Given the description of an element on the screen output the (x, y) to click on. 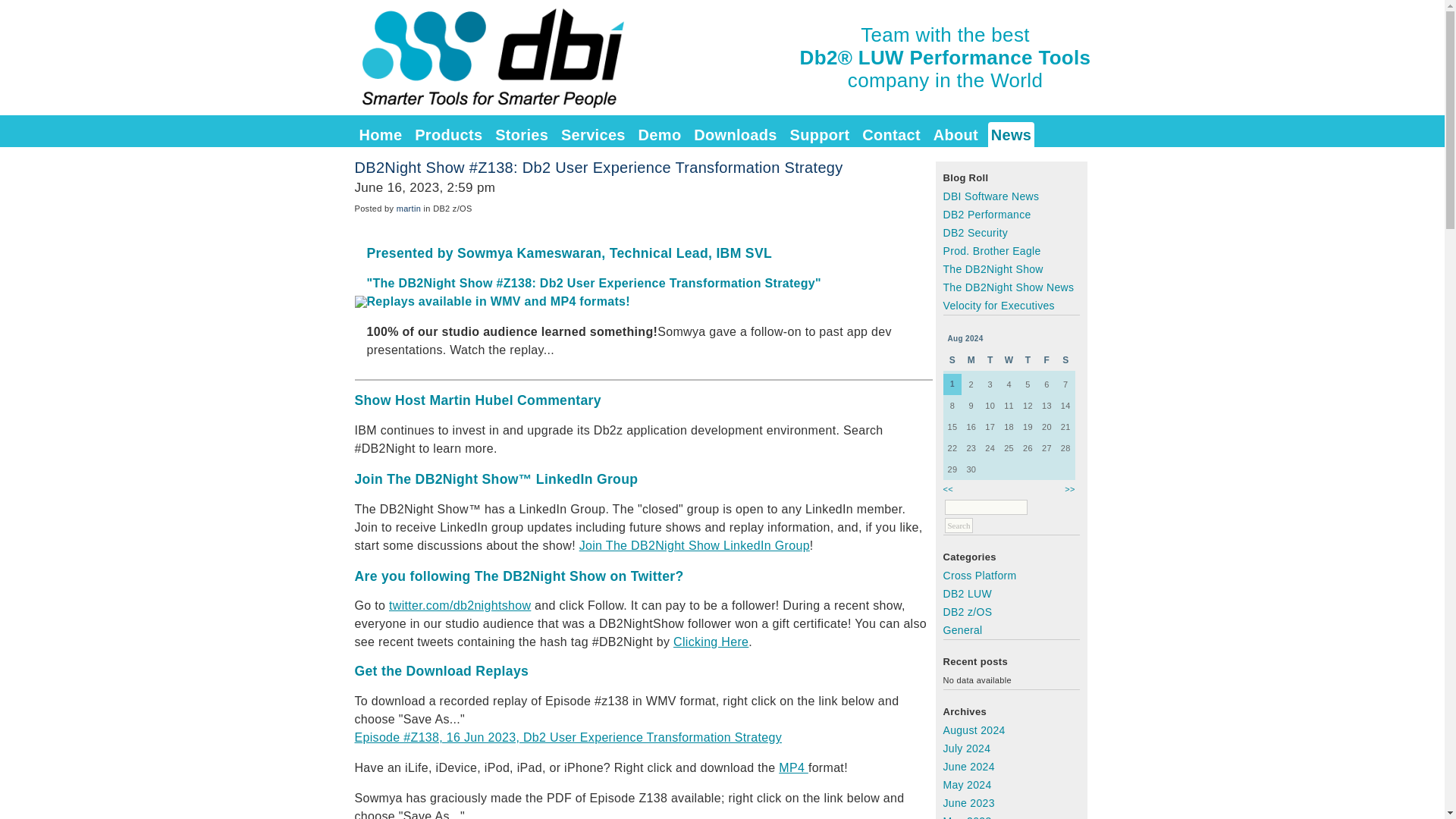
May 2024 (967, 784)
Next month (1069, 488)
Contact (891, 136)
Search (959, 525)
August 2024 (974, 729)
DB2 Security (976, 232)
July 2024 (967, 748)
DB2 Performance (986, 214)
DB2 Security (976, 232)
Services (592, 136)
